Given the description of an element on the screen output the (x, y) to click on. 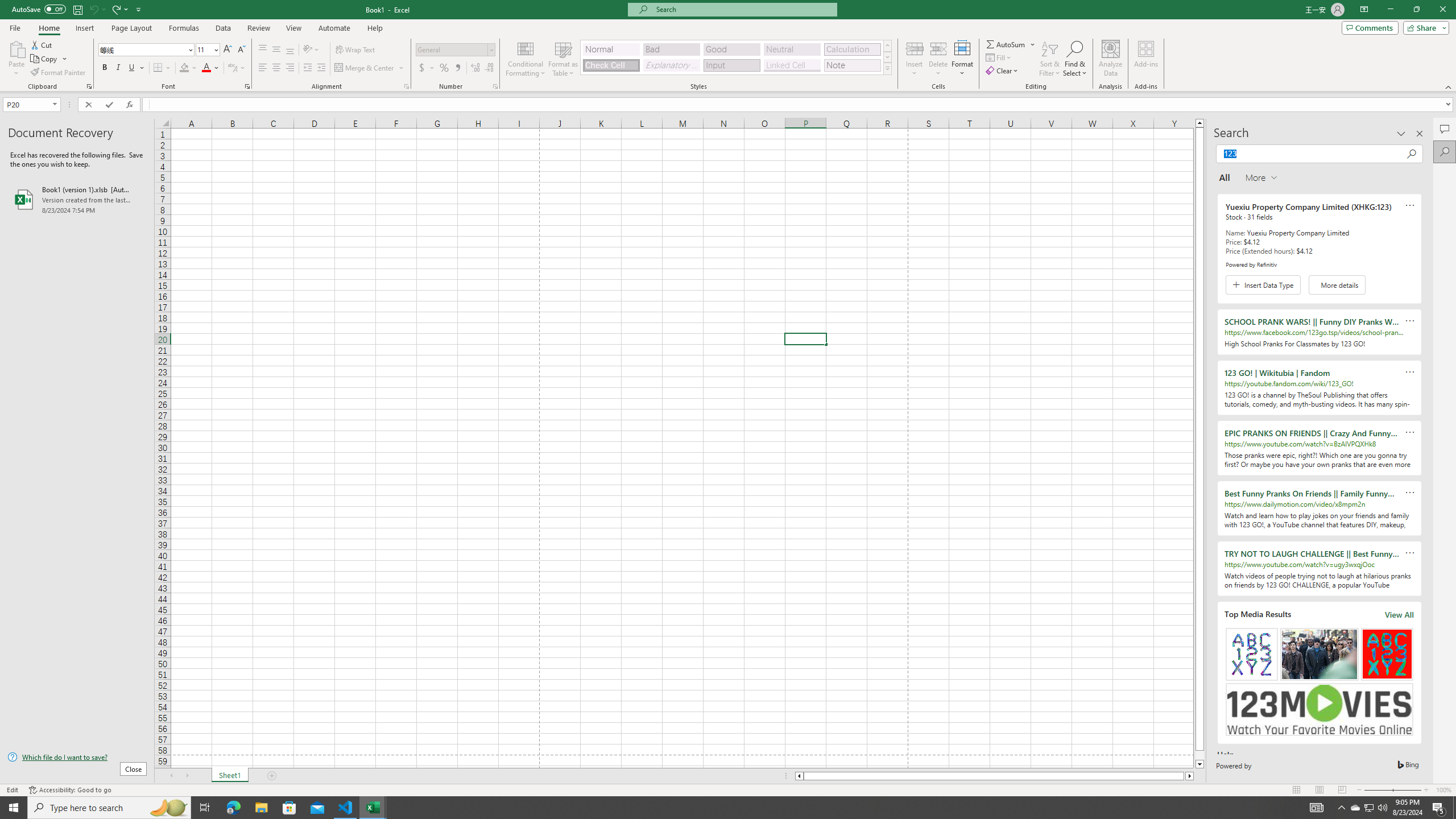
Zoom In (1426, 790)
Cell Styles (887, 68)
AutomationID: CellStylesGallery (736, 57)
Input (731, 65)
Comma Style (457, 67)
Underline (131, 67)
Format (962, 58)
Percent Style (443, 67)
Minimize (1390, 9)
Neutral (791, 49)
Format Cell Number (494, 85)
Accounting Number Format (422, 67)
Conditional Formatting (525, 58)
Font (142, 49)
